Given the description of an element on the screen output the (x, y) to click on. 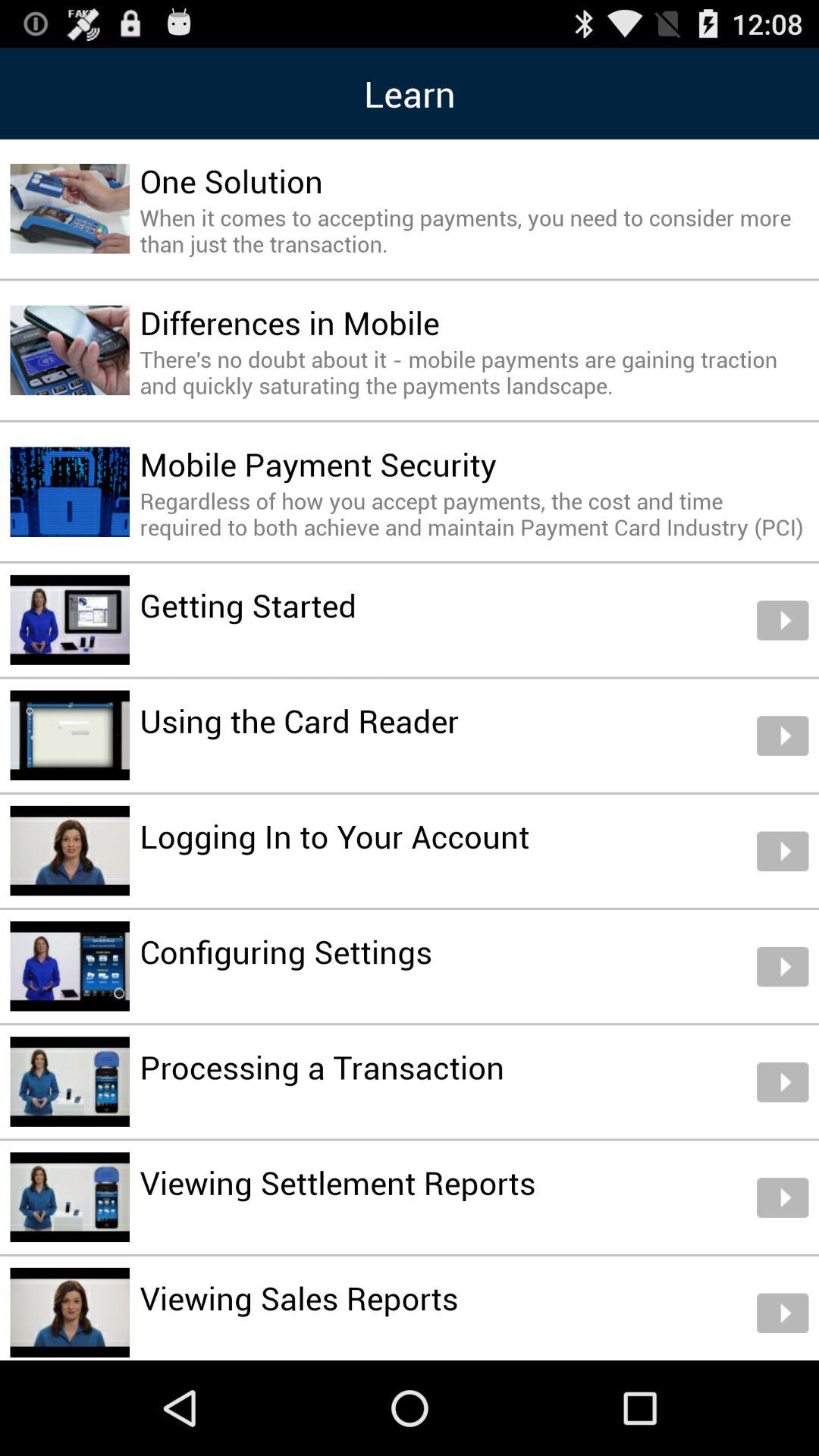
jump to the differences in mobile (289, 322)
